Given the description of an element on the screen output the (x, y) to click on. 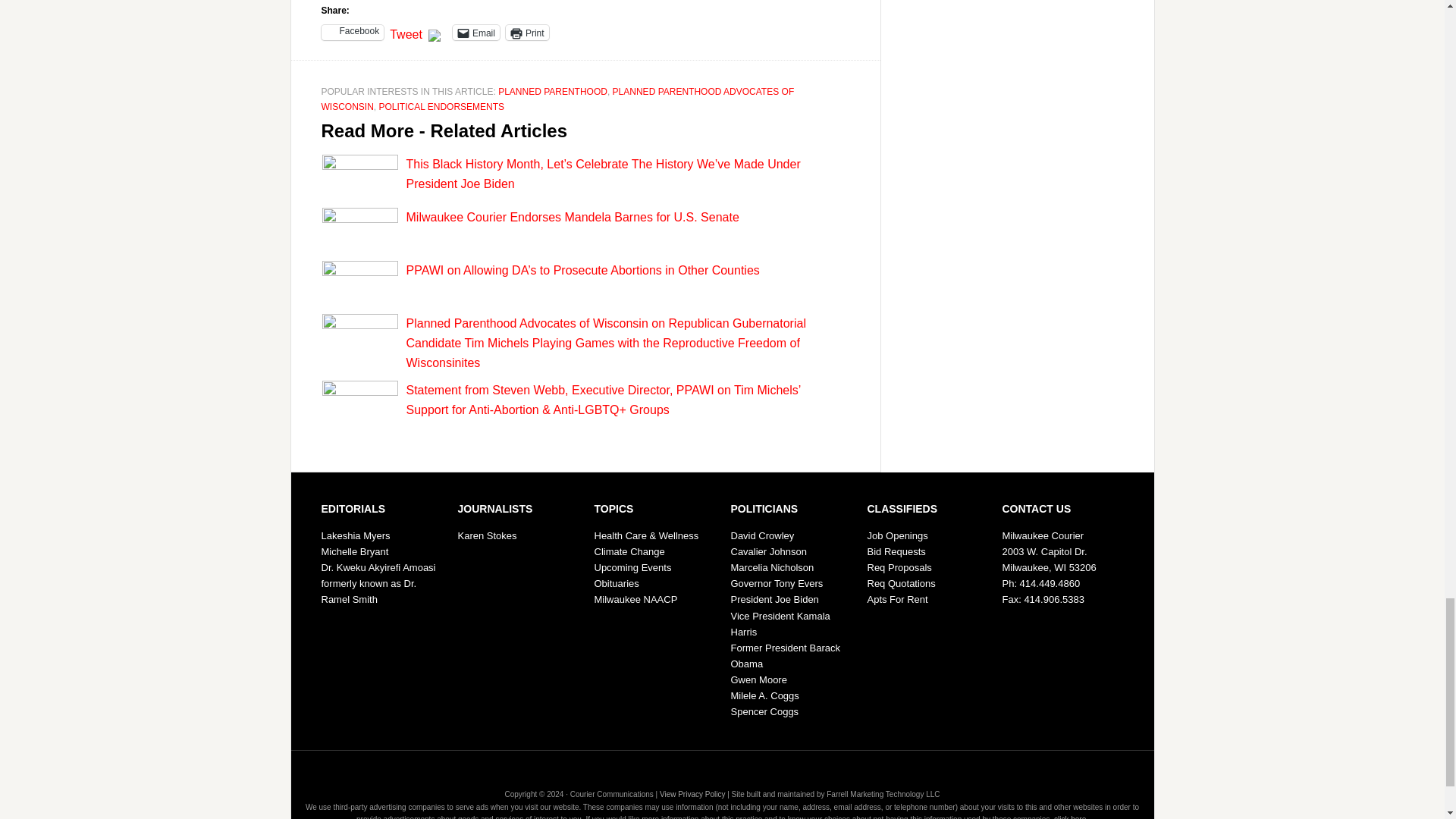
Click to email a link to a friend (475, 32)
Tweet (406, 31)
Click to print (526, 32)
Facebook (352, 32)
Milwaukee Courier Endorses Mandela Barnes for U.S. Senate (572, 216)
Print (526, 32)
Email (475, 32)
Milwaukee Courier Endorses Mandela Barnes for U.S. Senate (572, 216)
Click to share on Facebook (352, 32)
PLANNED PARENTHOOD ADVOCATES OF WISCONSIN (557, 99)
POLITICAL ENDORSEMENTS (441, 106)
PLANNED PARENTHOOD (552, 91)
